Given the description of an element on the screen output the (x, y) to click on. 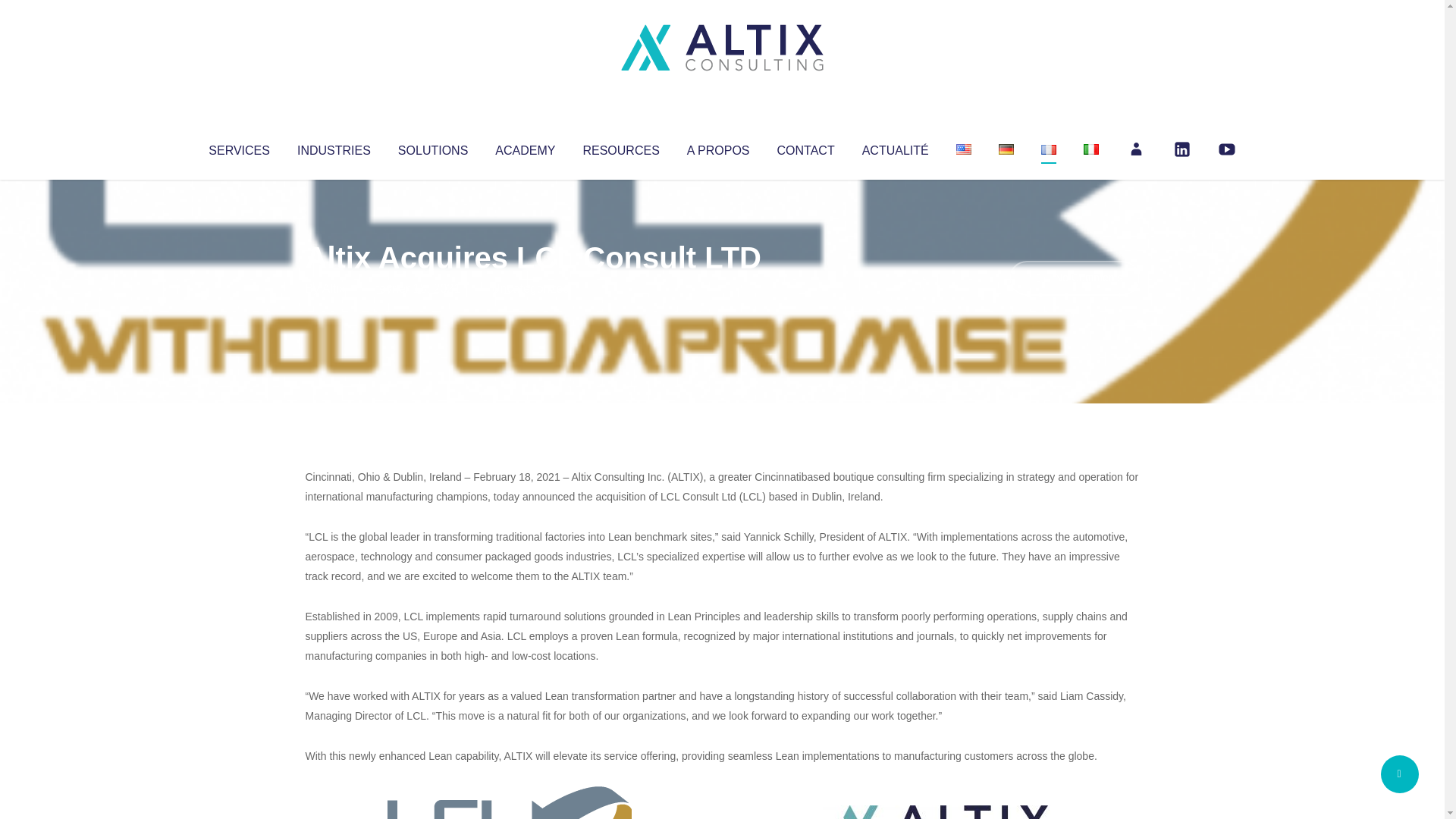
A PROPOS (718, 146)
No Comments (1073, 278)
Altix (333, 287)
SERVICES (238, 146)
Uncategorized (530, 287)
Articles par Altix (333, 287)
RESOURCES (620, 146)
INDUSTRIES (334, 146)
SOLUTIONS (432, 146)
ACADEMY (524, 146)
